Given the description of an element on the screen output the (x, y) to click on. 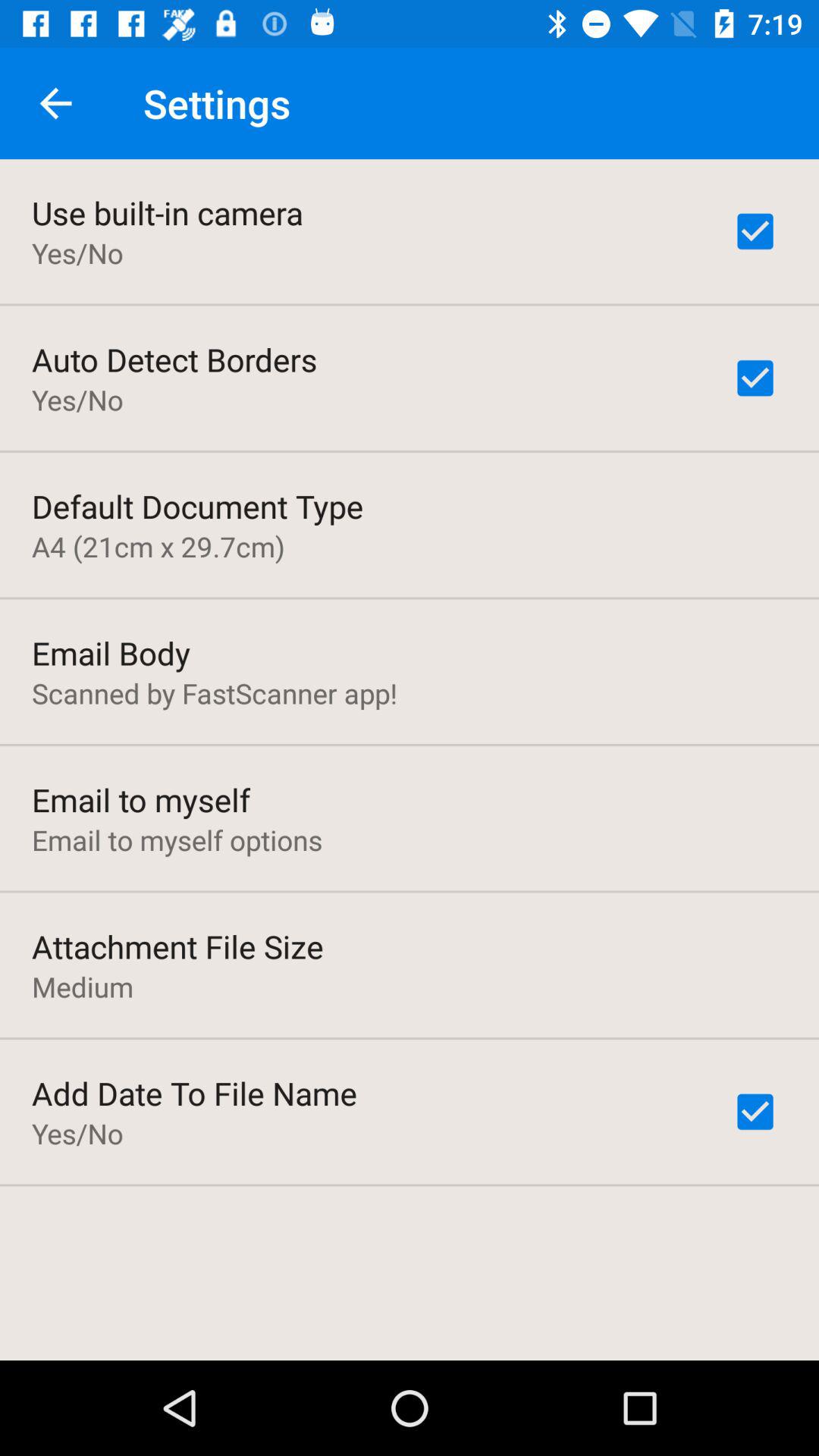
click item above the scanned by fastscanner (110, 652)
